Given the description of an element on the screen output the (x, y) to click on. 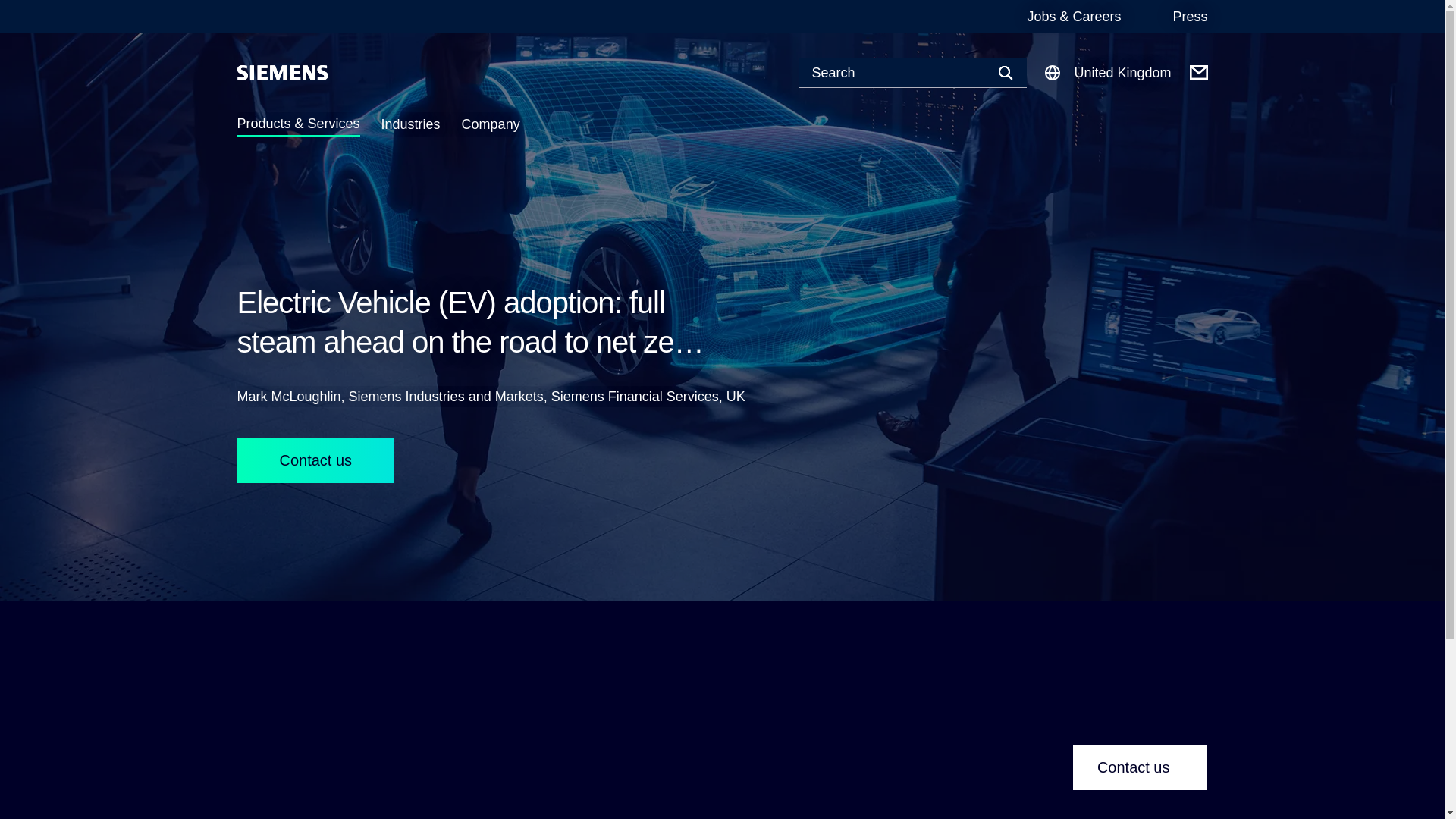
Contact us (314, 460)
United Kingdom (1107, 72)
Siemens (281, 72)
Contact us (1139, 766)
Press (1189, 16)
search (8, 9)
Industries (411, 124)
Company (490, 124)
